Given the description of an element on the screen output the (x, y) to click on. 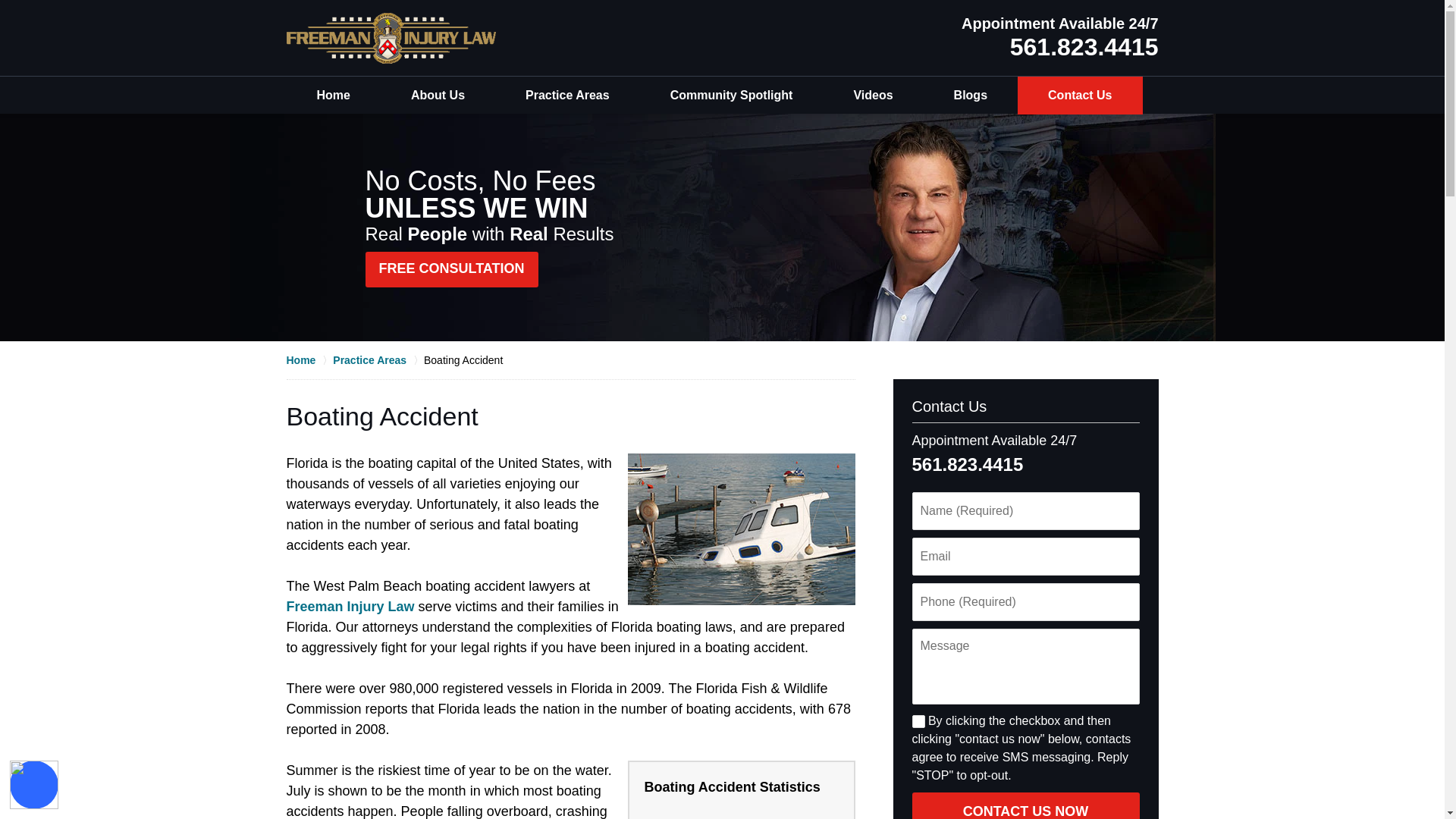
Practice Areas (567, 95)
About Us (437, 95)
Videos (872, 95)
Practice Areas (378, 359)
Email (1024, 556)
Blogs (970, 95)
Yes (917, 721)
Accessibility Menu (34, 784)
Contact Us (1079, 95)
FREE CONSULTATION (451, 269)
